Given the description of an element on the screen output the (x, y) to click on. 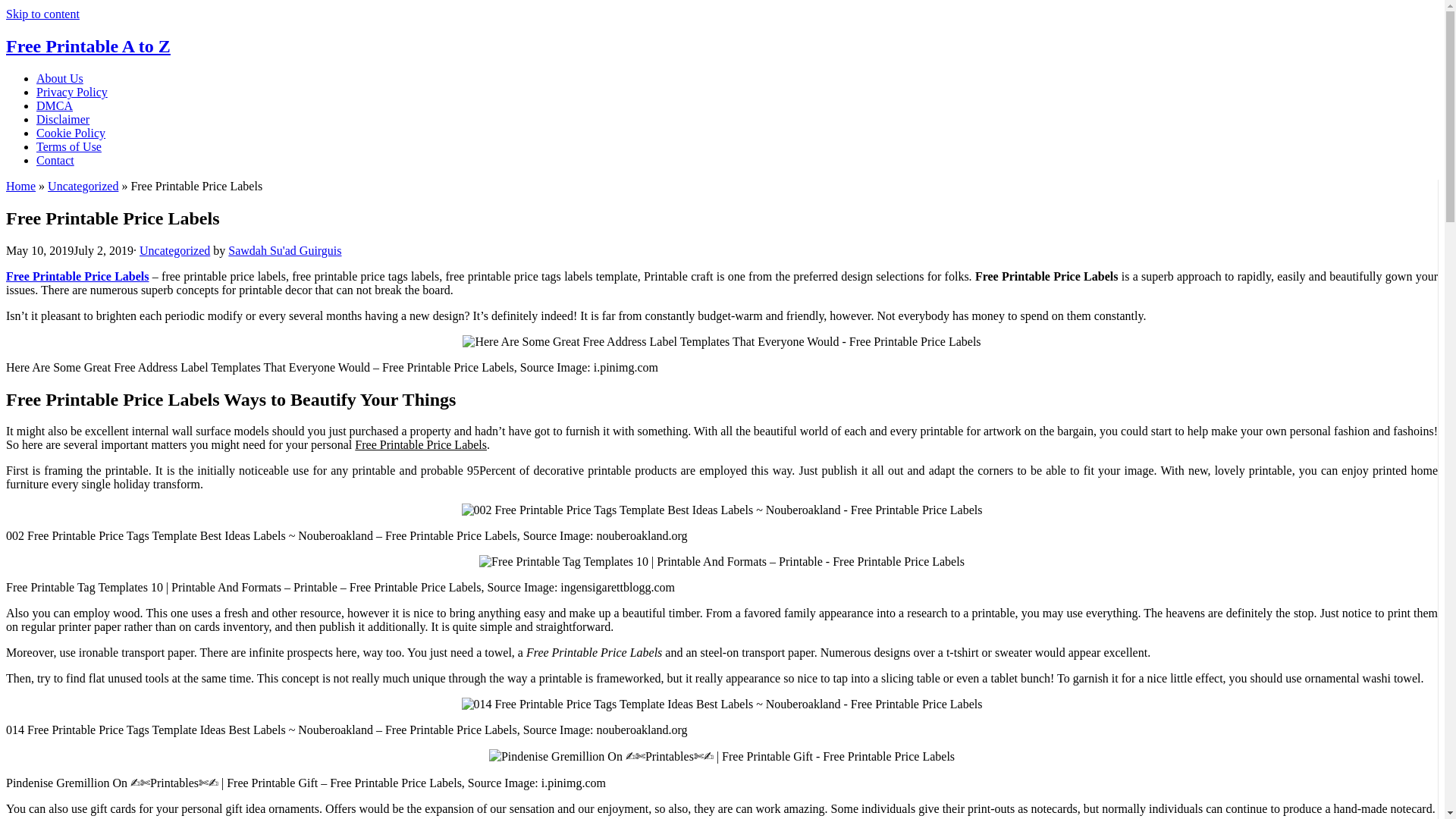
Skip to content (42, 13)
DMCA (54, 105)
Contact (55, 160)
Sawdah Su'ad Guirguis (284, 250)
Home (19, 185)
Privacy Policy (71, 91)
Free Printable A to Z (87, 46)
Disclaimer (62, 119)
Cookie Policy (70, 132)
About Us (59, 78)
